Given the description of an element on the screen output the (x, y) to click on. 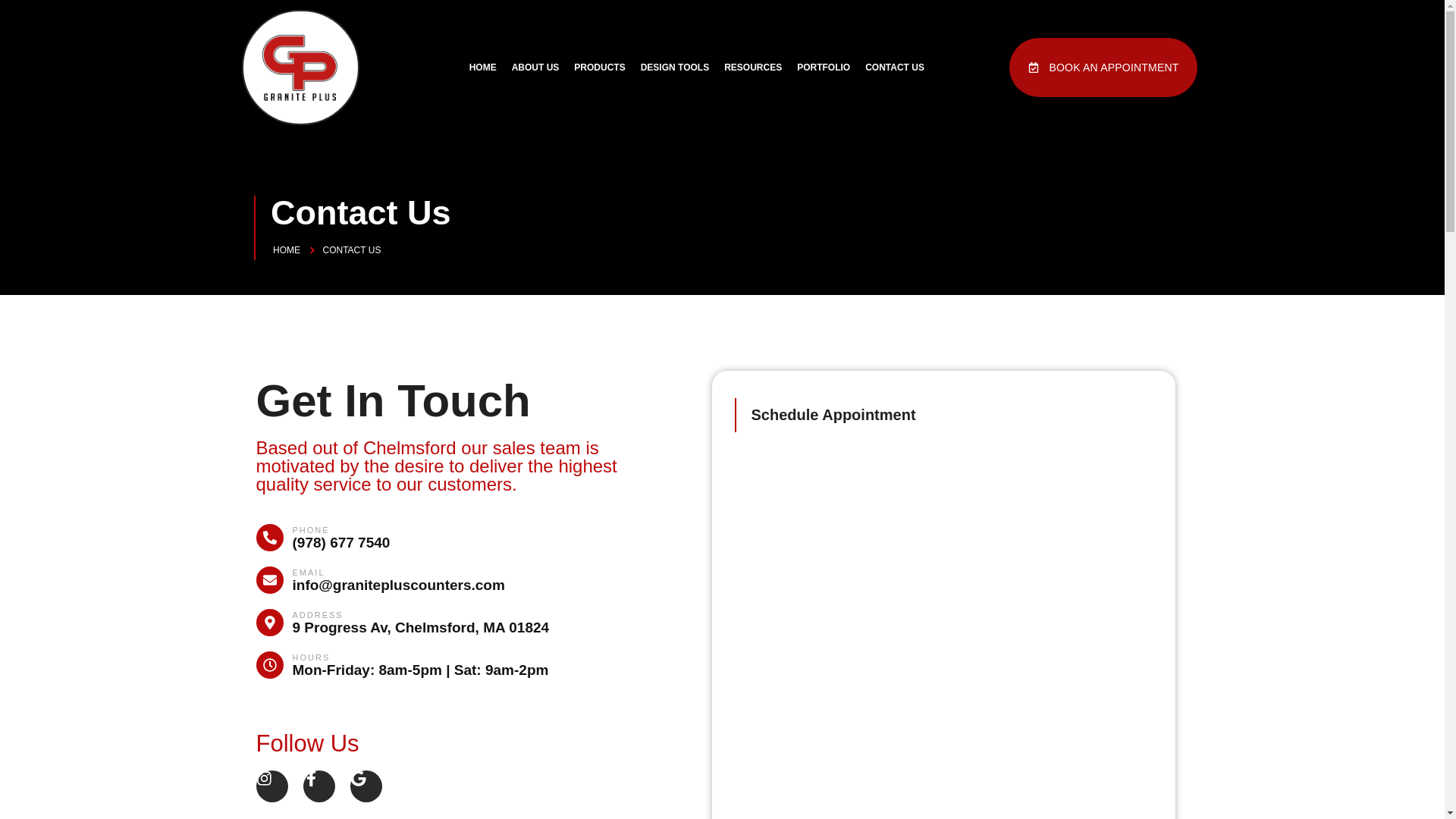
PRODUCTS (598, 67)
DESIGN TOOLS (674, 67)
CONTACT US (894, 67)
ABOUT US (535, 67)
HOME (482, 67)
RESOURCES (752, 67)
PORTFOLIO (823, 67)
